Given the description of an element on the screen output the (x, y) to click on. 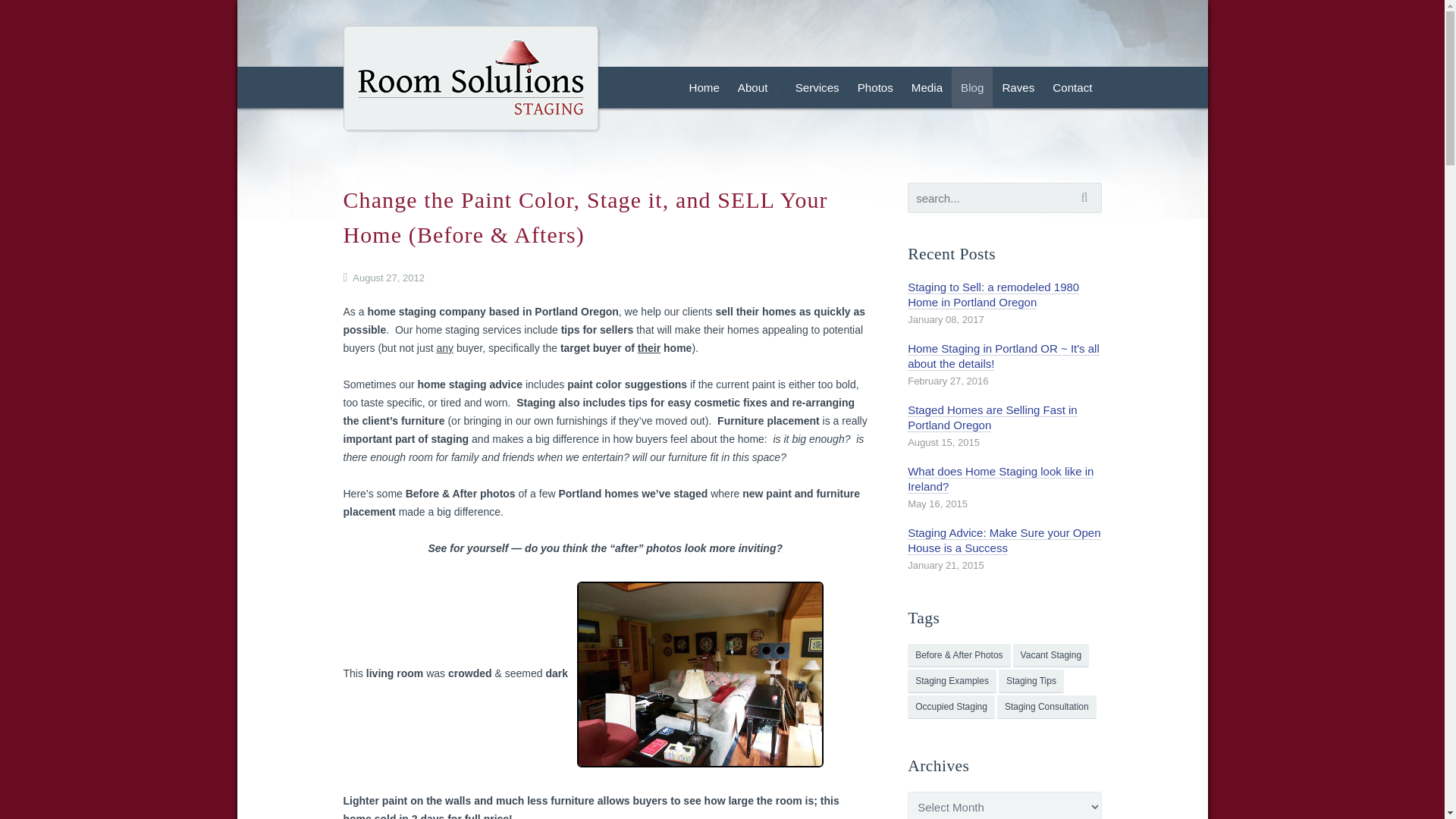
Staging Examples (951, 680)
Photos (875, 87)
Search (1086, 197)
Staging to Sell: a remodeled 1980 Home in Portland Oregon (992, 294)
Staging Tips (1031, 680)
Vacant Staging (1051, 655)
Home (703, 87)
Search (1086, 197)
Occupied Staging (950, 707)
Contact (1071, 87)
Media (927, 87)
What does Home Staging look like in Ireland? (1000, 479)
Services (817, 87)
About (757, 87)
Blog (972, 87)
